Given the description of an element on the screen output the (x, y) to click on. 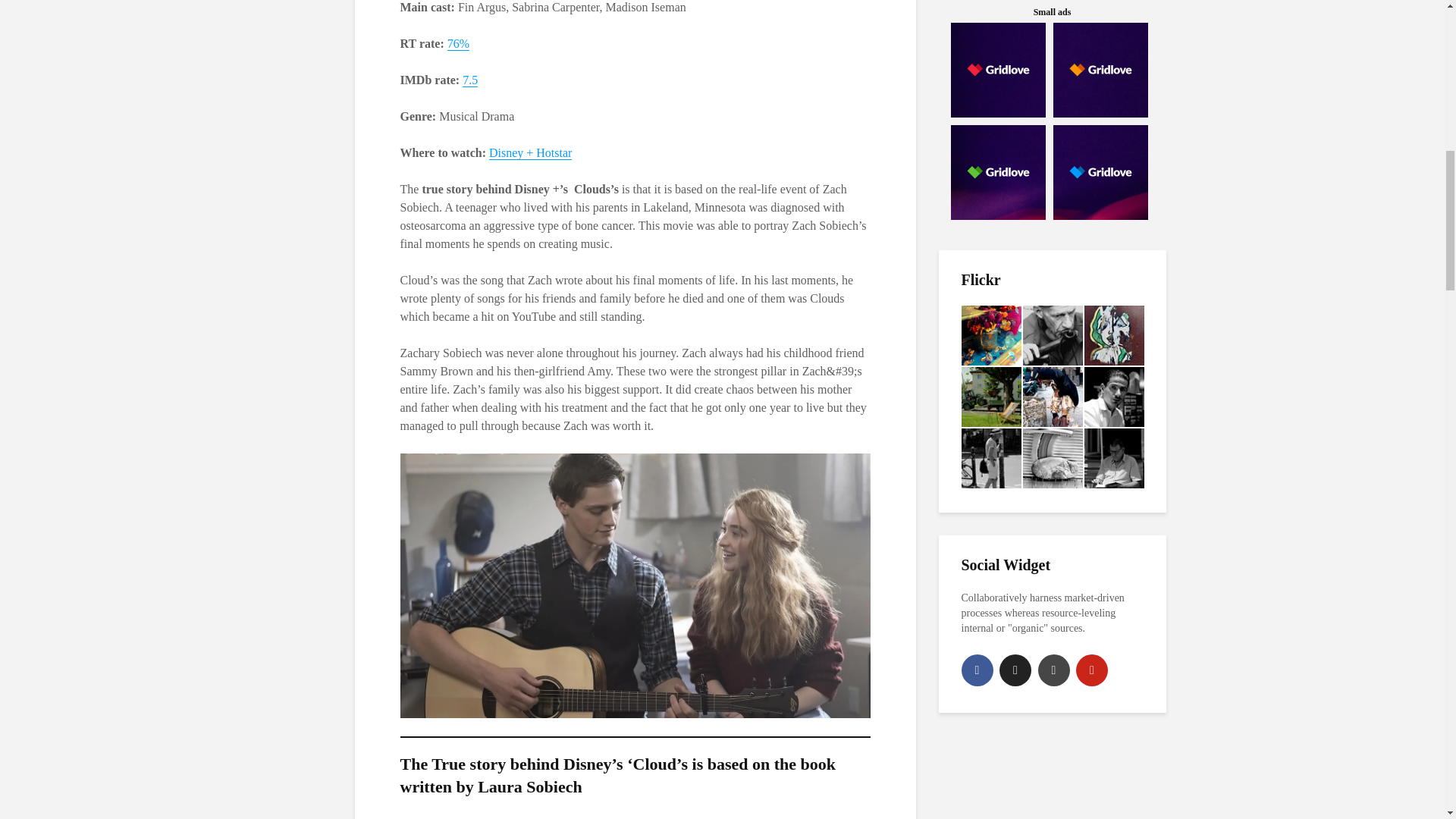
PdT (1051, 458)
Canotier en solitaire (991, 458)
Facebook (976, 670)
Poder (991, 396)
la Marge noire (1051, 396)
John (1114, 396)
Hokitron's Markus (1051, 335)
Mondis (1114, 335)
Lecteur (1114, 458)
Zoos (991, 335)
